Given the description of an element on the screen output the (x, y) to click on. 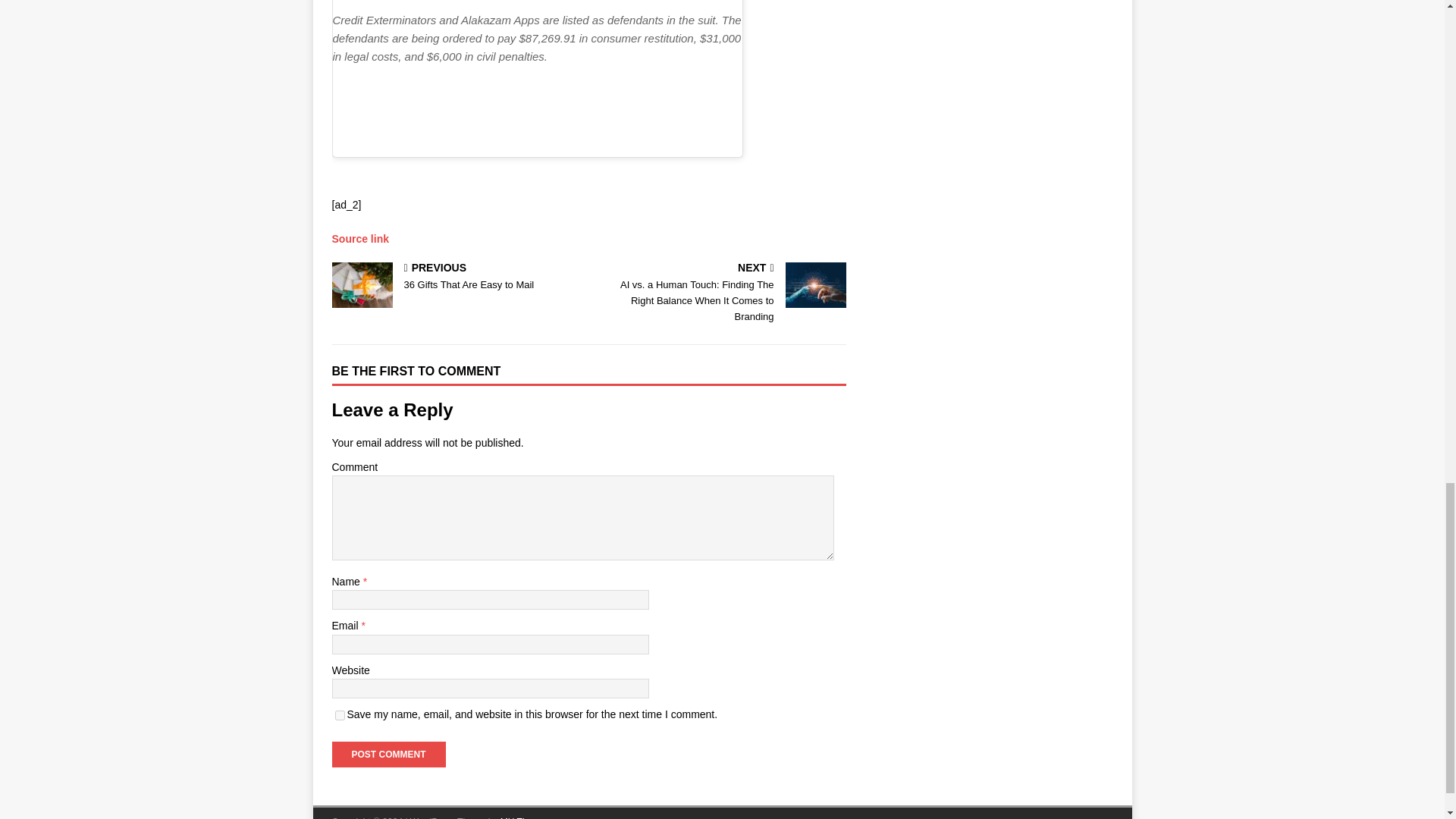
Source link (359, 238)
yes (339, 715)
Post Comment (457, 277)
Post Comment (388, 754)
